Given the description of an element on the screen output the (x, y) to click on. 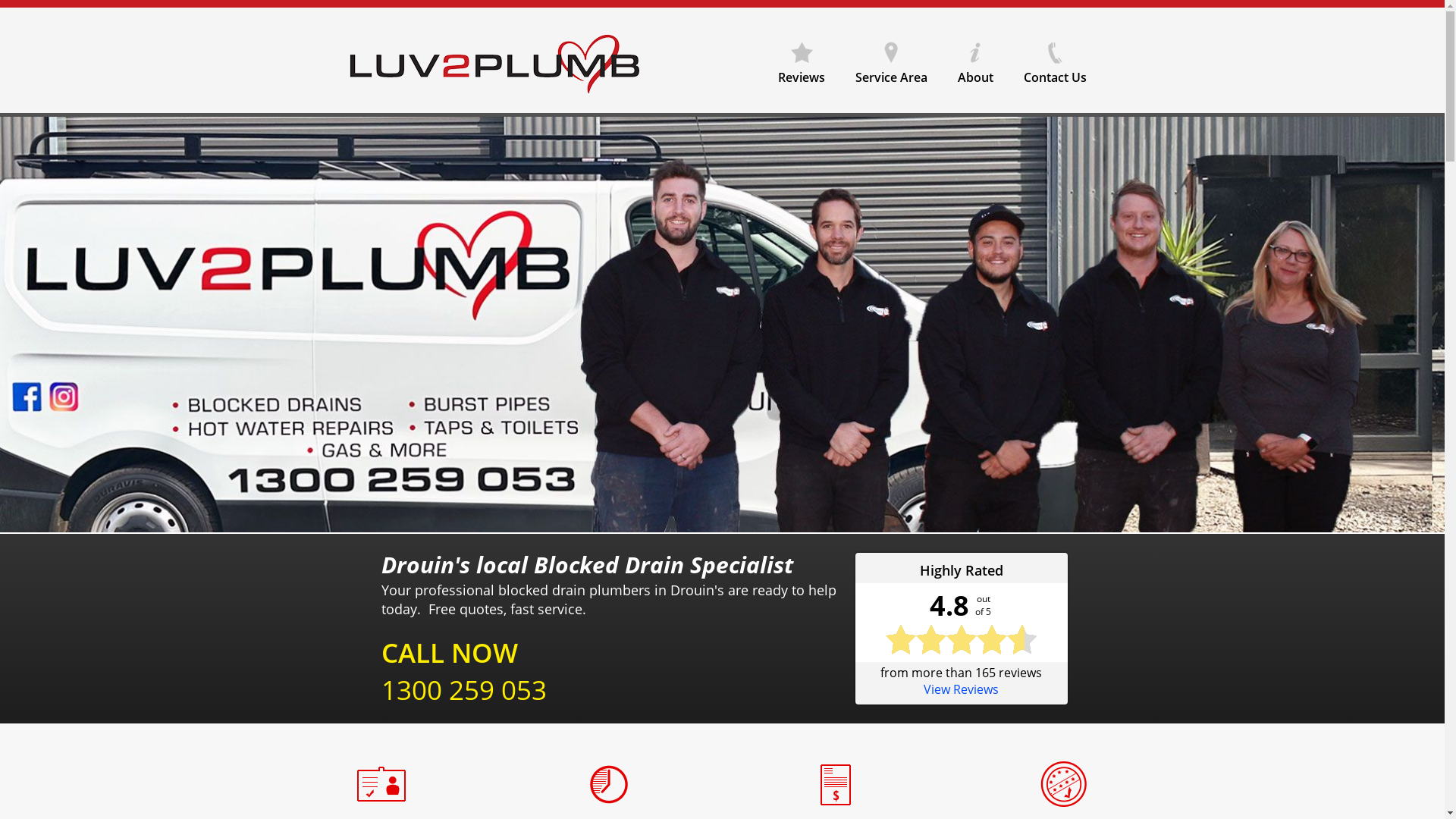
Reviews Element type: text (801, 57)
Service Area Element type: text (891, 57)
About Element type: text (974, 57)
1300 259 053 Element type: text (463, 689)
View Reviews Element type: text (960, 688)
Contact Us Element type: text (1054, 57)
